Given the description of an element on the screen output the (x, y) to click on. 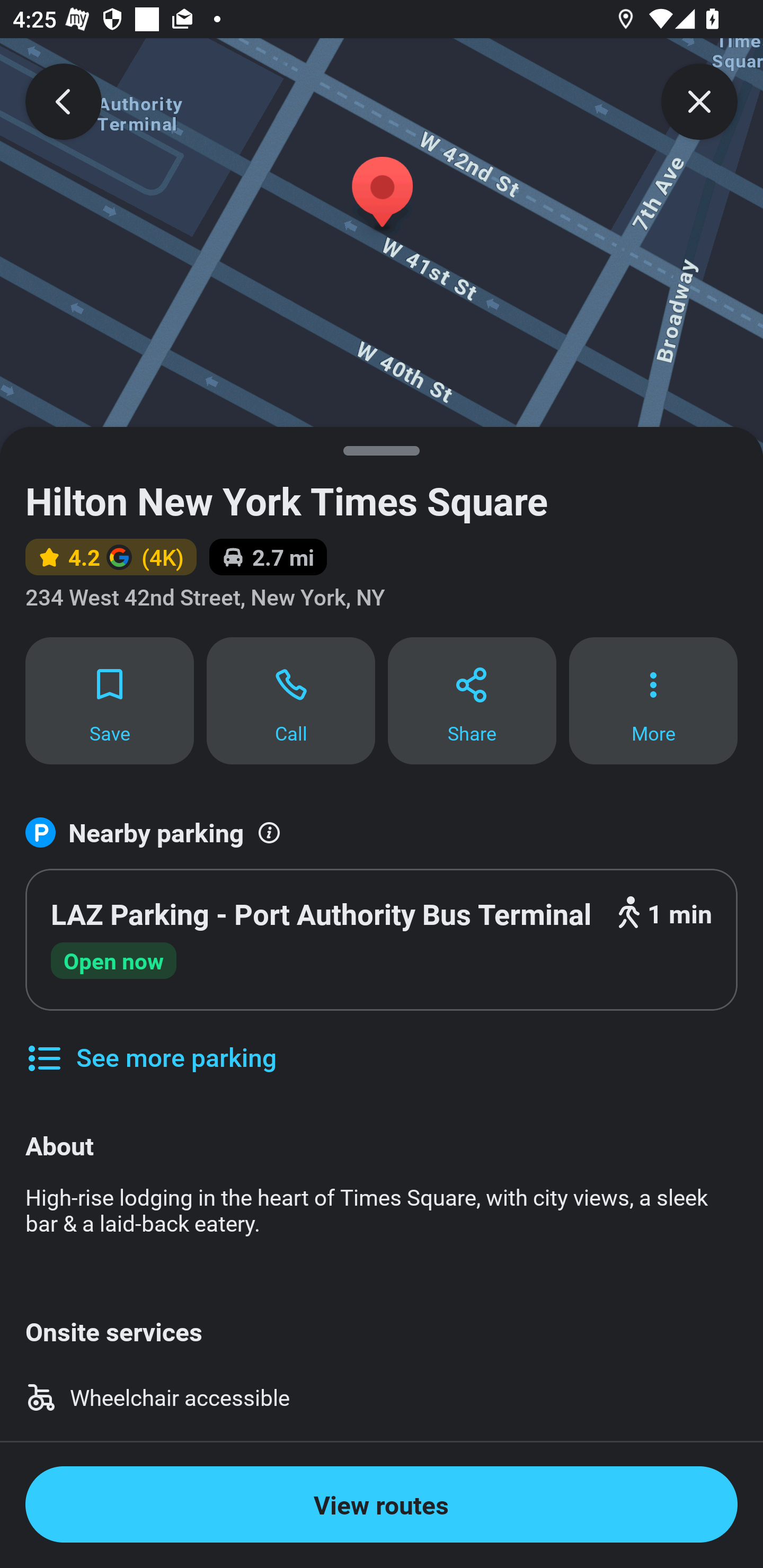
Save (109, 700)
Call (290, 700)
Share (471, 700)
More (653, 700)
See more parking (150, 1043)
View routes (381, 1504)
